Given the description of an element on the screen output the (x, y) to click on. 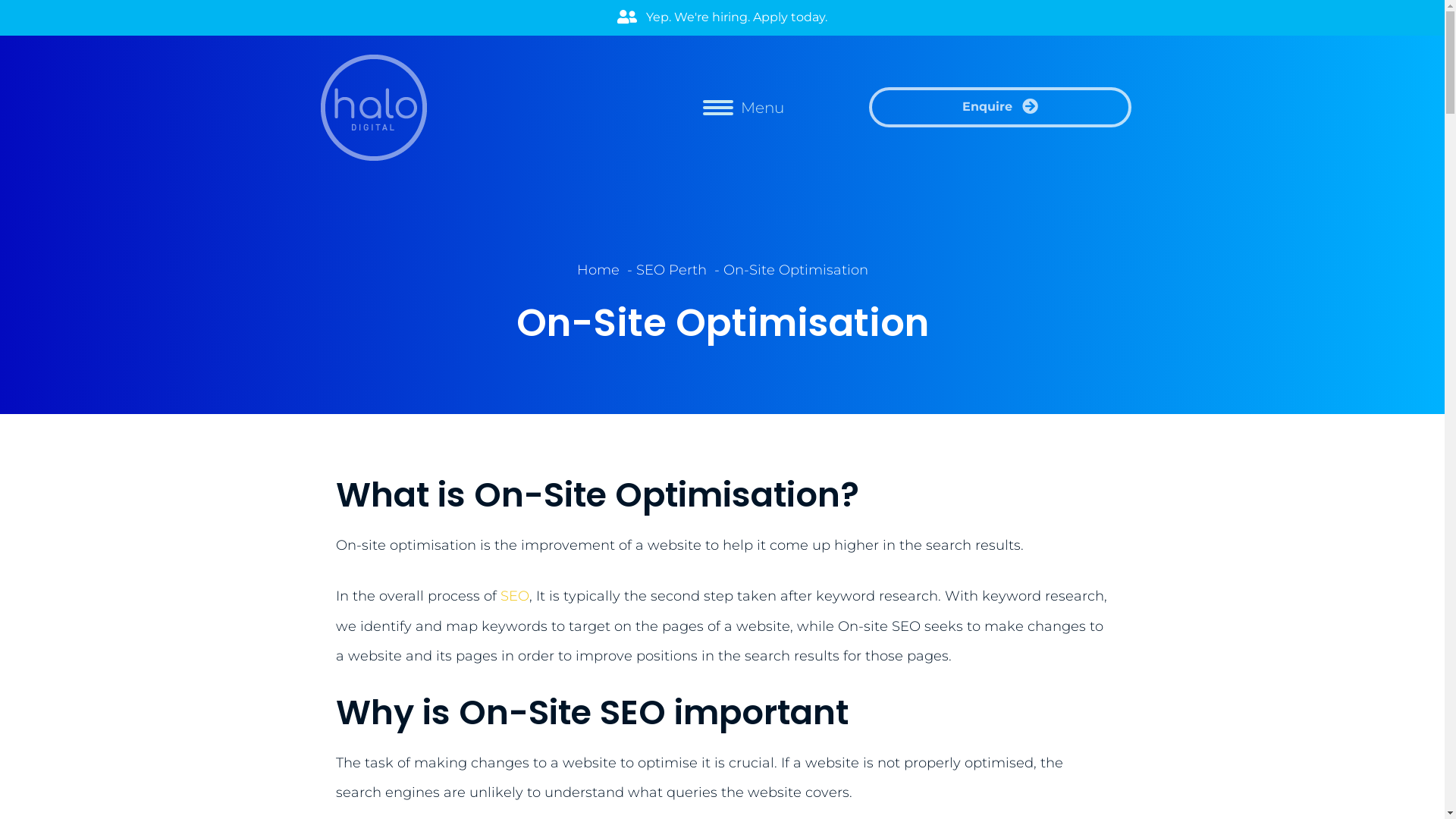
Menu Element type: text (743, 107)
Yep. We're hiring. Apply today. Element type: text (722, 17)
Enquire Element type: text (1000, 107)
SEO Element type: text (514, 595)
halo-logo-white Element type: hover (373, 107)
Home Element type: text (597, 270)
SEO Perth Element type: text (670, 270)
